Given the description of an element on the screen output the (x, y) to click on. 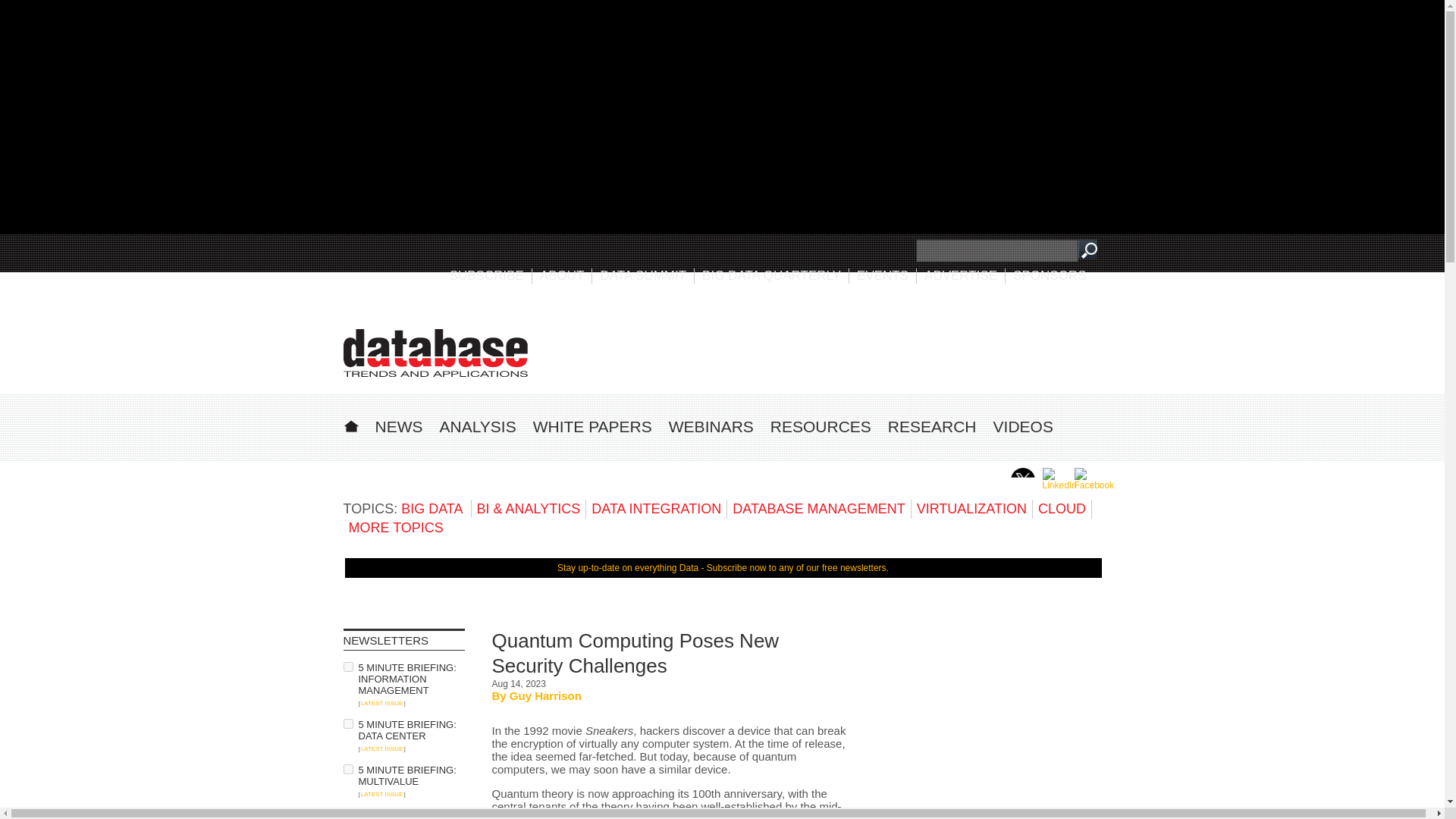
DBTA on Facebook (1093, 484)
RESOURCES (820, 425)
on (347, 666)
ADVERTISE (960, 275)
WHITE PAPERS (592, 425)
Database Trends and Applications Home (350, 424)
HOME (350, 424)
VIDEOS (1022, 425)
DBTA (434, 352)
BIG DATA QUARTERLY (771, 275)
